Given the description of an element on the screen output the (x, y) to click on. 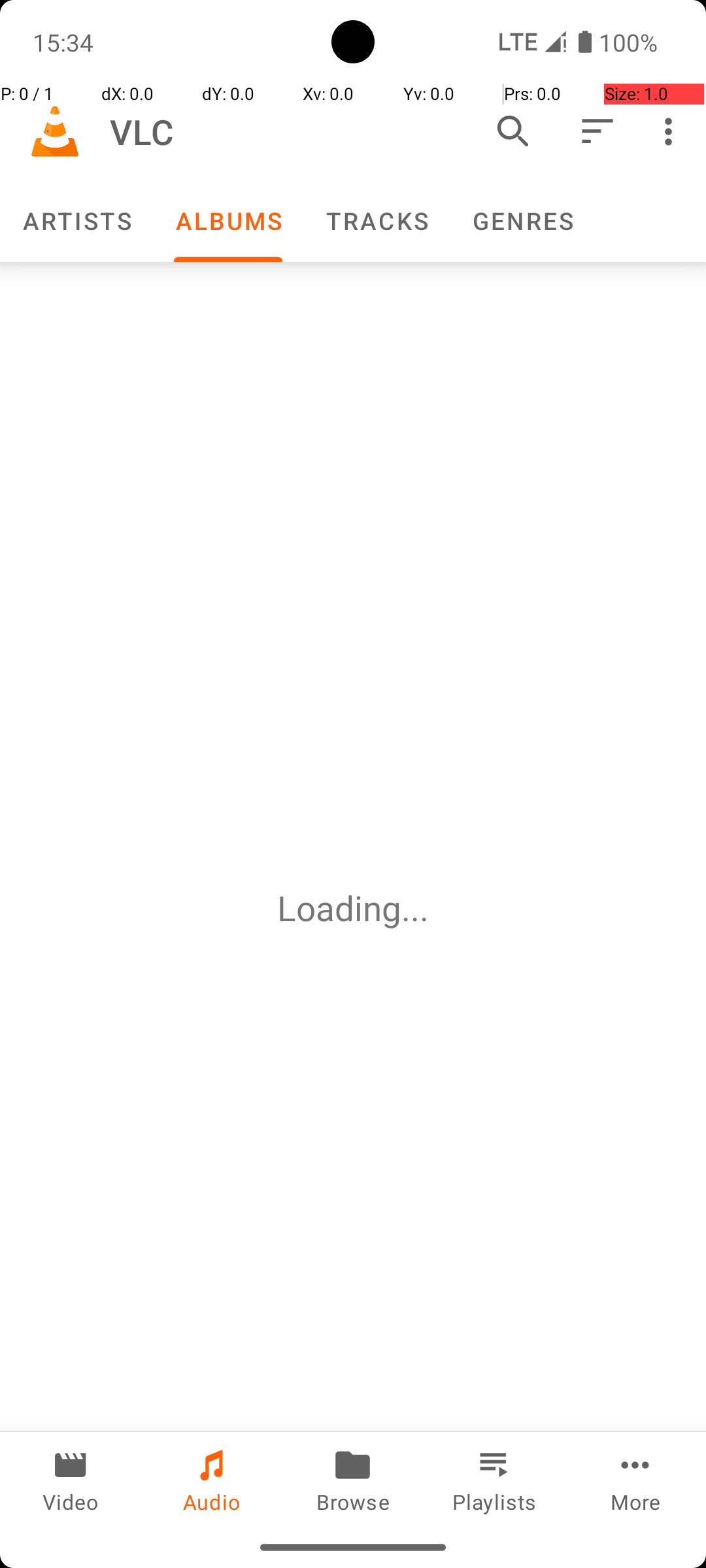
... Element type: android.widget.TextView (414, 907)
